Given the description of an element on the screen output the (x, y) to click on. 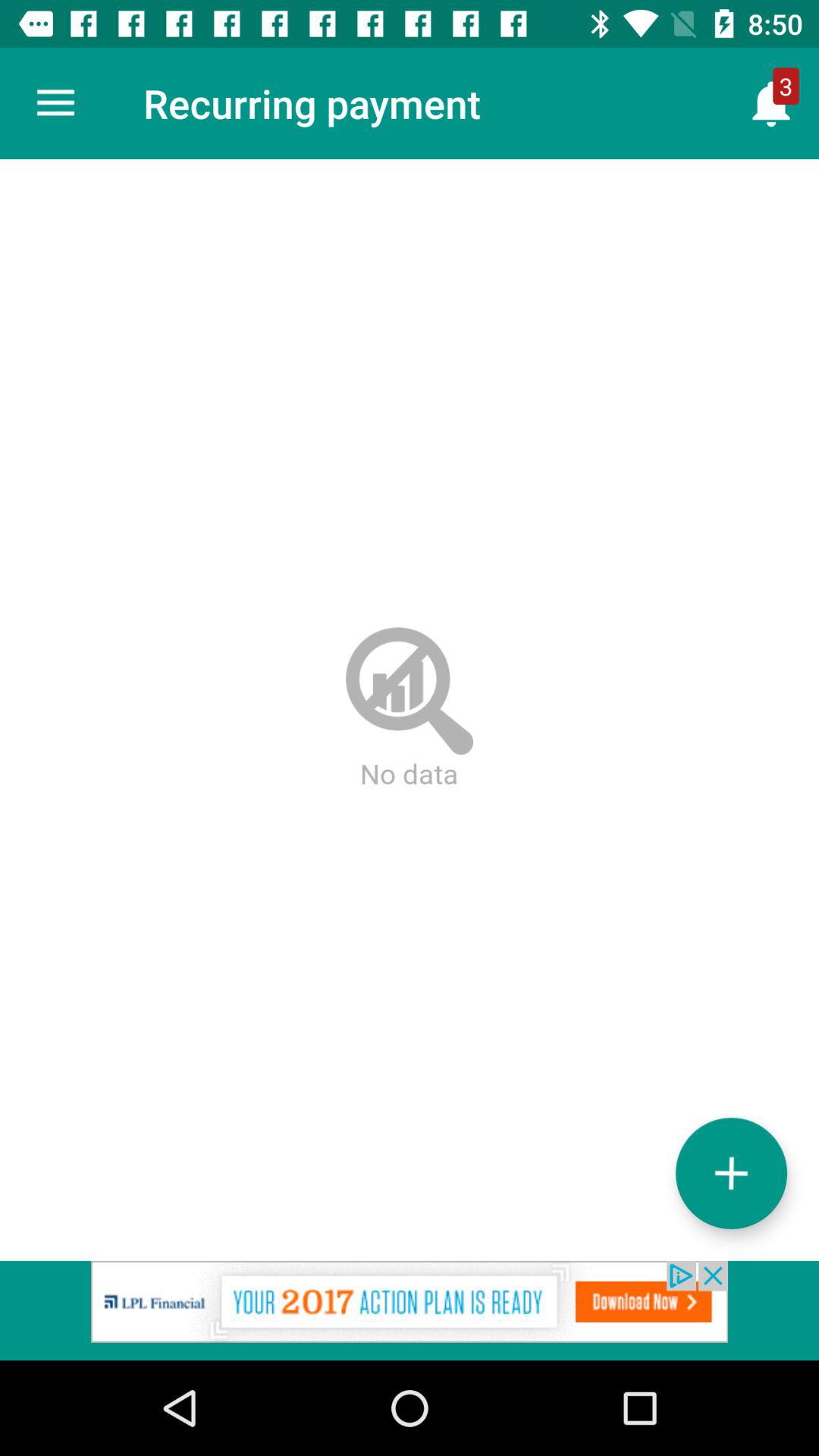
advertisement banner (409, 1310)
